Given the description of an element on the screen output the (x, y) to click on. 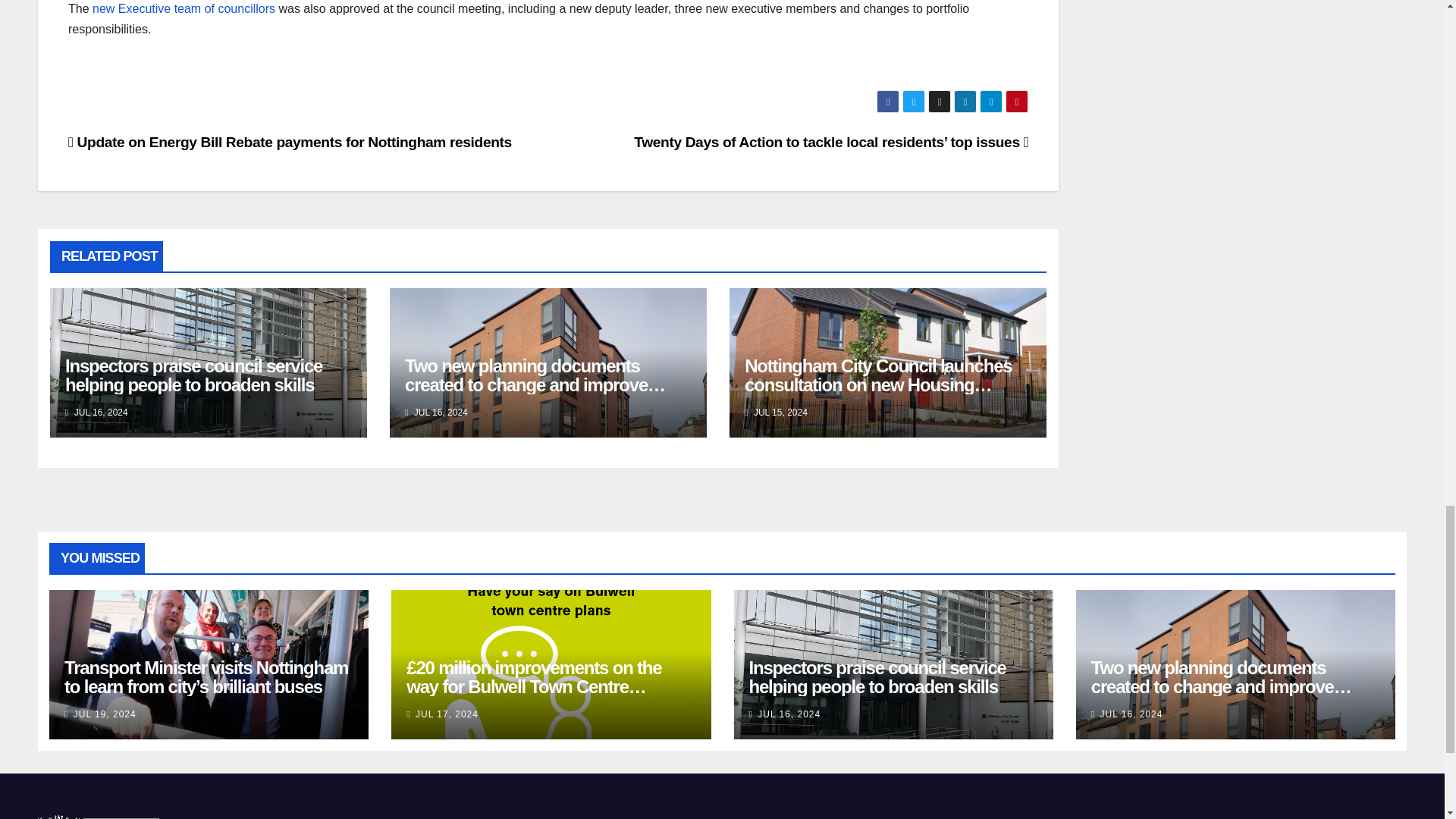
new Executive team of councillors (184, 8)
